Given the description of an element on the screen output the (x, y) to click on. 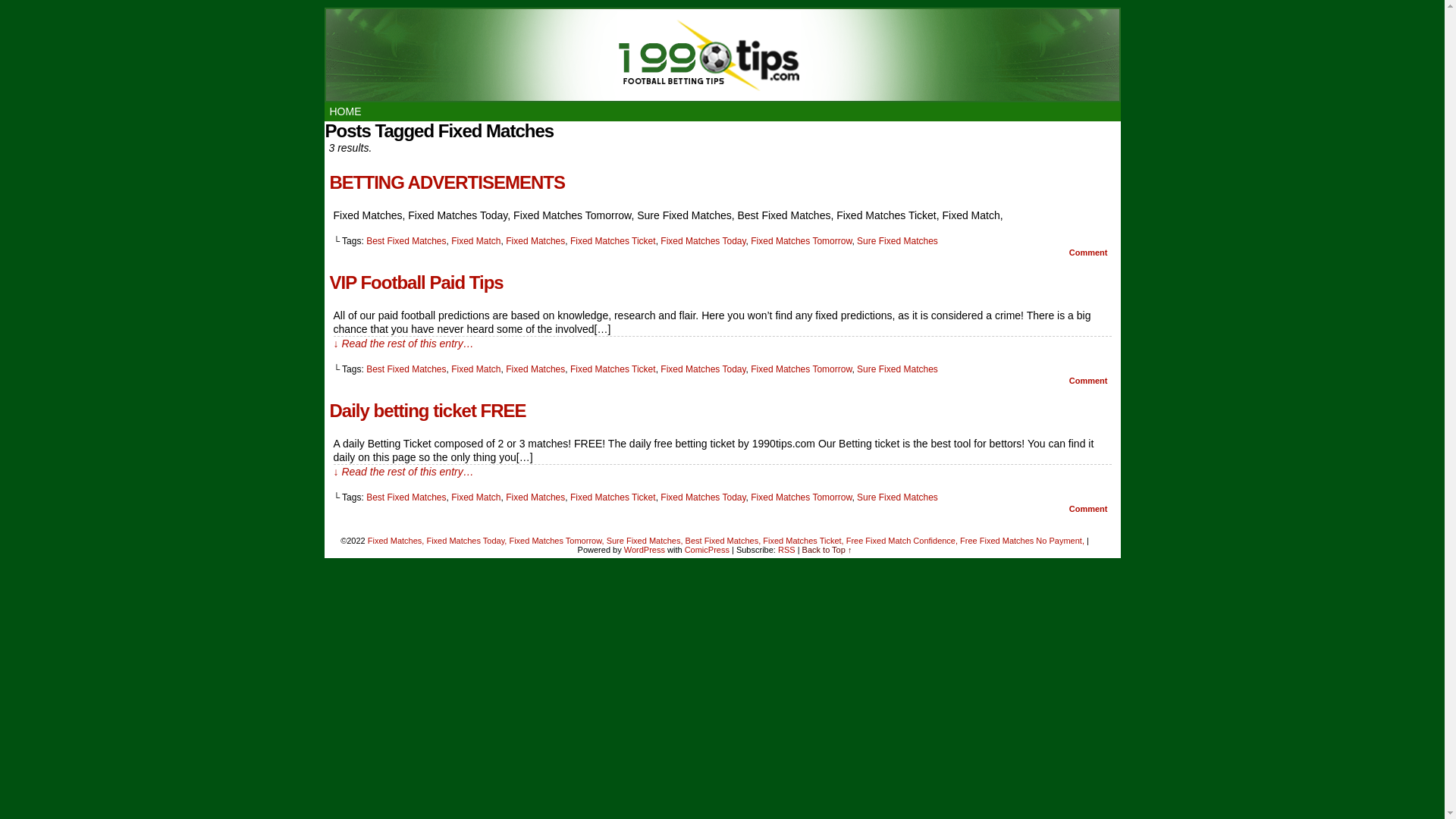
Fixed Matches Today Element type: text (702, 240)
Best Fixed Matches Element type: text (405, 240)
Fixed Match Element type: text (475, 369)
BETTING ADVERTISEMENTS Element type: text (446, 183)
VIP Football Paid Tips Element type: text (415, 283)
WordPress Element type: text (644, 549)
ComicPress Element type: text (706, 549)
Fixed Matches Ticket Element type: text (612, 497)
Daily betting ticket FREE Element type: text (427, 411)
Fixed Matches Today Element type: text (702, 369)
Fixed Matches Ticket Element type: text (612, 369)
HOME Element type: text (345, 111)
Fixed Matches Element type: text (534, 497)
Fixed Matches Today Element type: text (702, 497)
 Comment  Element type: text (1088, 380)
Sure Fixed Matches Element type: text (897, 497)
Fixed Matches Tomorrow Element type: text (800, 240)
Fixed Matches Element type: text (534, 369)
Fixed Match Element type: text (475, 240)
Best Fixed Matches Element type: text (405, 497)
Best Fixed Matches Element type: text (405, 369)
Sure Fixed Matches Element type: text (897, 240)
Fixed Matches Ticket Element type: text (612, 240)
Fixed Match Element type: text (475, 497)
 Comment  Element type: text (1088, 508)
Fixed Matches Element type: text (534, 240)
RSS Element type: text (786, 549)
Sure Fixed Matches Element type: text (897, 369)
Fixed Matches Tomorrow Element type: text (800, 497)
Fixed Matches Tomorrow Element type: text (800, 369)
 Comment  Element type: text (1088, 252)
